Given the description of an element on the screen output the (x, y) to click on. 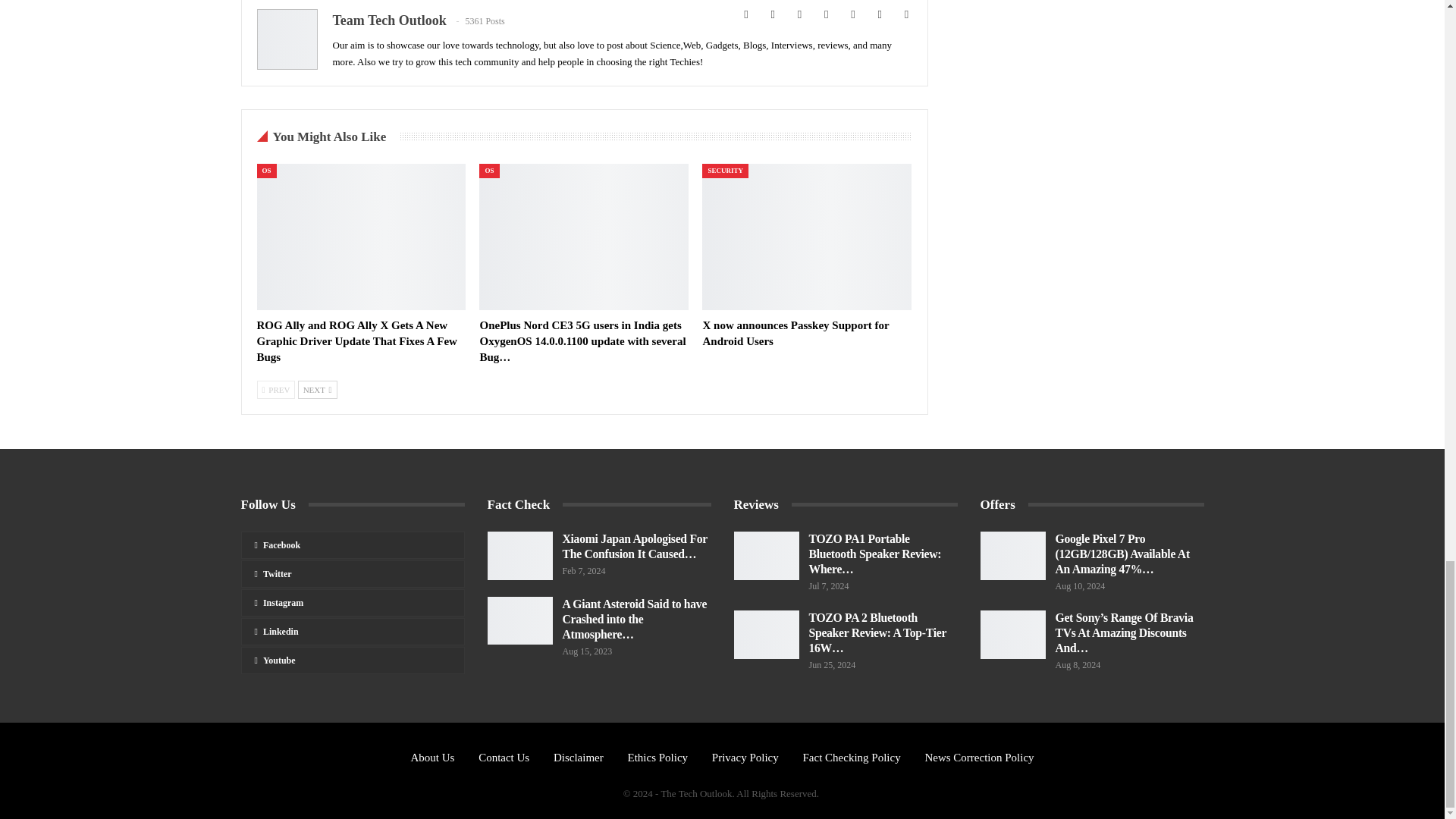
X now announces Passkey Support for Android Users (794, 333)
Previous (275, 389)
X now announces Passkey Support for Android Users (806, 236)
